Given the description of an element on the screen output the (x, y) to click on. 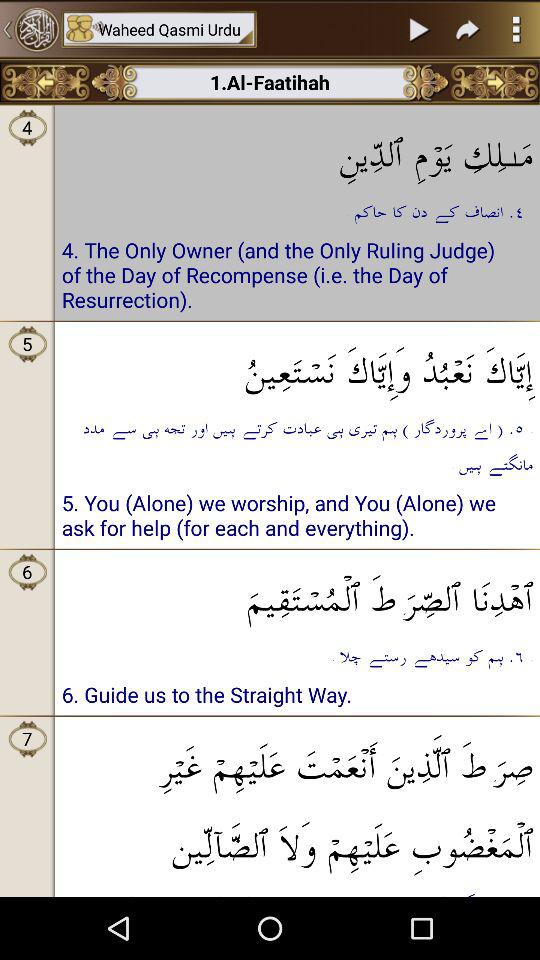
go next option (468, 29)
